Given the description of an element on the screen output the (x, y) to click on. 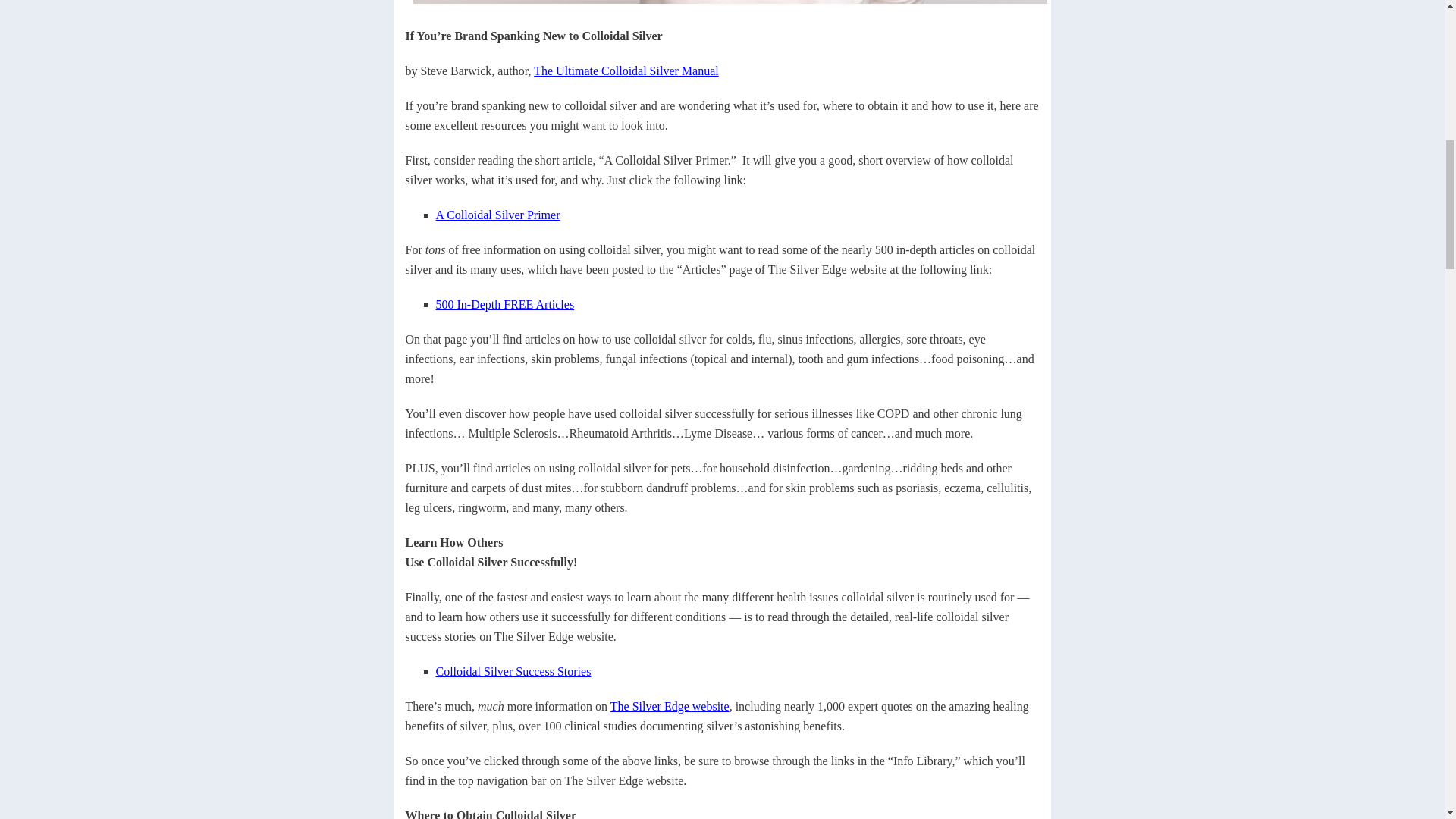
Colloidal Silver Success Stories (513, 671)
A Colloidal Silver Primer (497, 214)
500 In-Depth FREE Articles (504, 304)
The Ultimate Colloidal Silver Manual (626, 70)
